Given the description of an element on the screen output the (x, y) to click on. 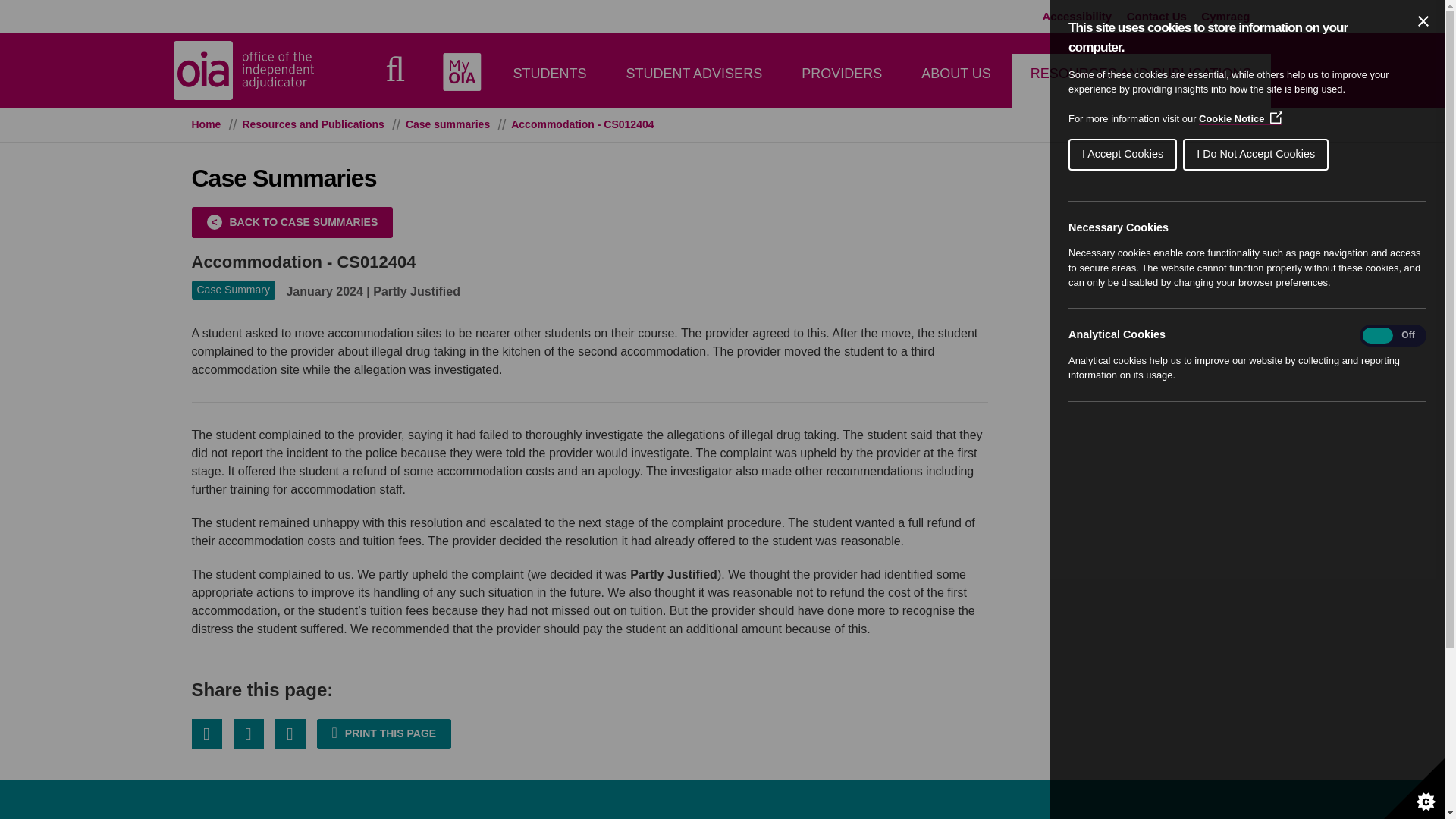
Case summaries (447, 124)
PROVIDERS (842, 80)
ABOUT US (956, 80)
HOME (512, 71)
STUDENT ADVISERS (693, 80)
Share on LinkedIn (289, 734)
STUDENTS (549, 80)
Share on Facebook (247, 734)
My OIA (461, 71)
I Accept Cookies (1355, 154)
Accessibility (1077, 16)
My OIA Login (461, 71)
Resources and Publications (312, 124)
Share on Twitter (205, 734)
Contact Us (1156, 16)
